Given the description of an element on the screen output the (x, y) to click on. 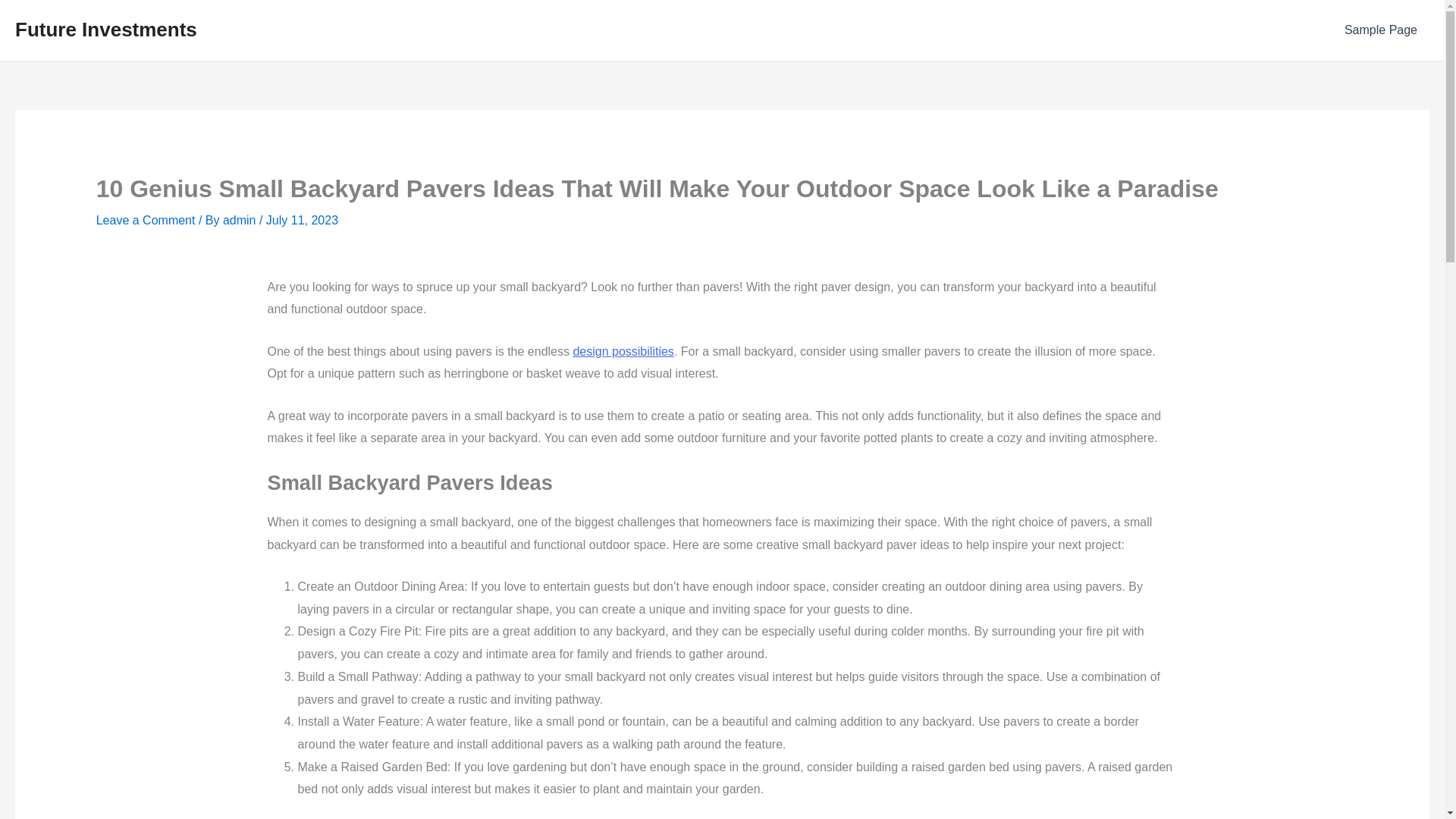
View all posts by admin (240, 219)
Sample Page (1380, 30)
Leave a Comment (145, 219)
Future Investments (105, 29)
design possibilities (622, 350)
admin (240, 219)
